Given the description of an element on the screen output the (x, y) to click on. 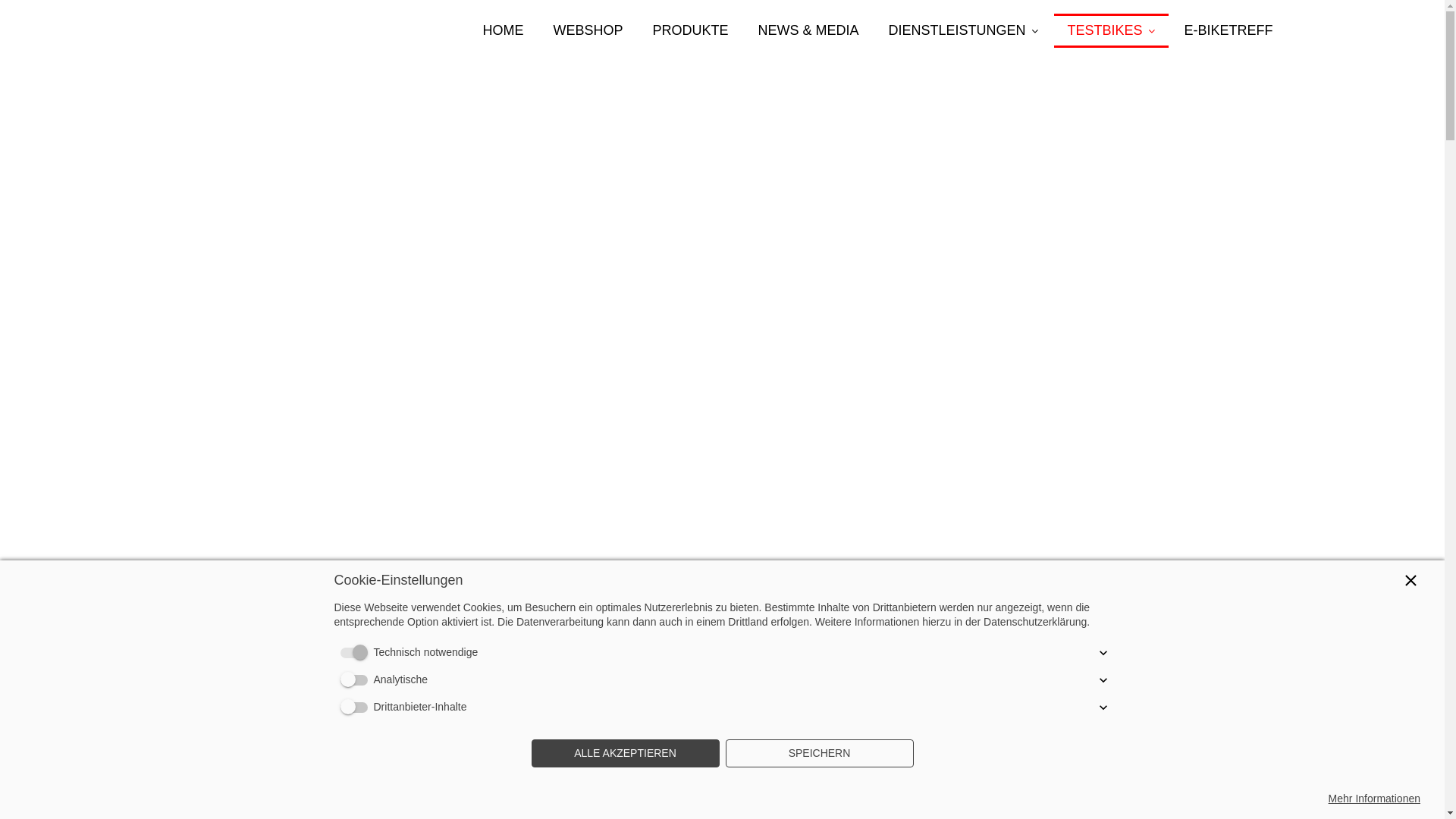
SPEICHERN Element type: text (818, 753)
NEWS & MEDIA Element type: text (807, 30)
E-BIKETREFF Element type: text (1228, 30)
PRODUKTE Element type: text (689, 30)
HOME Element type: text (502, 30)
WEBSHOP Element type: text (587, 30)
Mehr Informationen Element type: text (1374, 798)
ALLE AKZEPTIEREN Element type: text (624, 753)
TESTBIKES Element type: text (1111, 30)
DIENSTLEISTUNGEN Element type: text (962, 30)
